Given the description of an element on the screen output the (x, y) to click on. 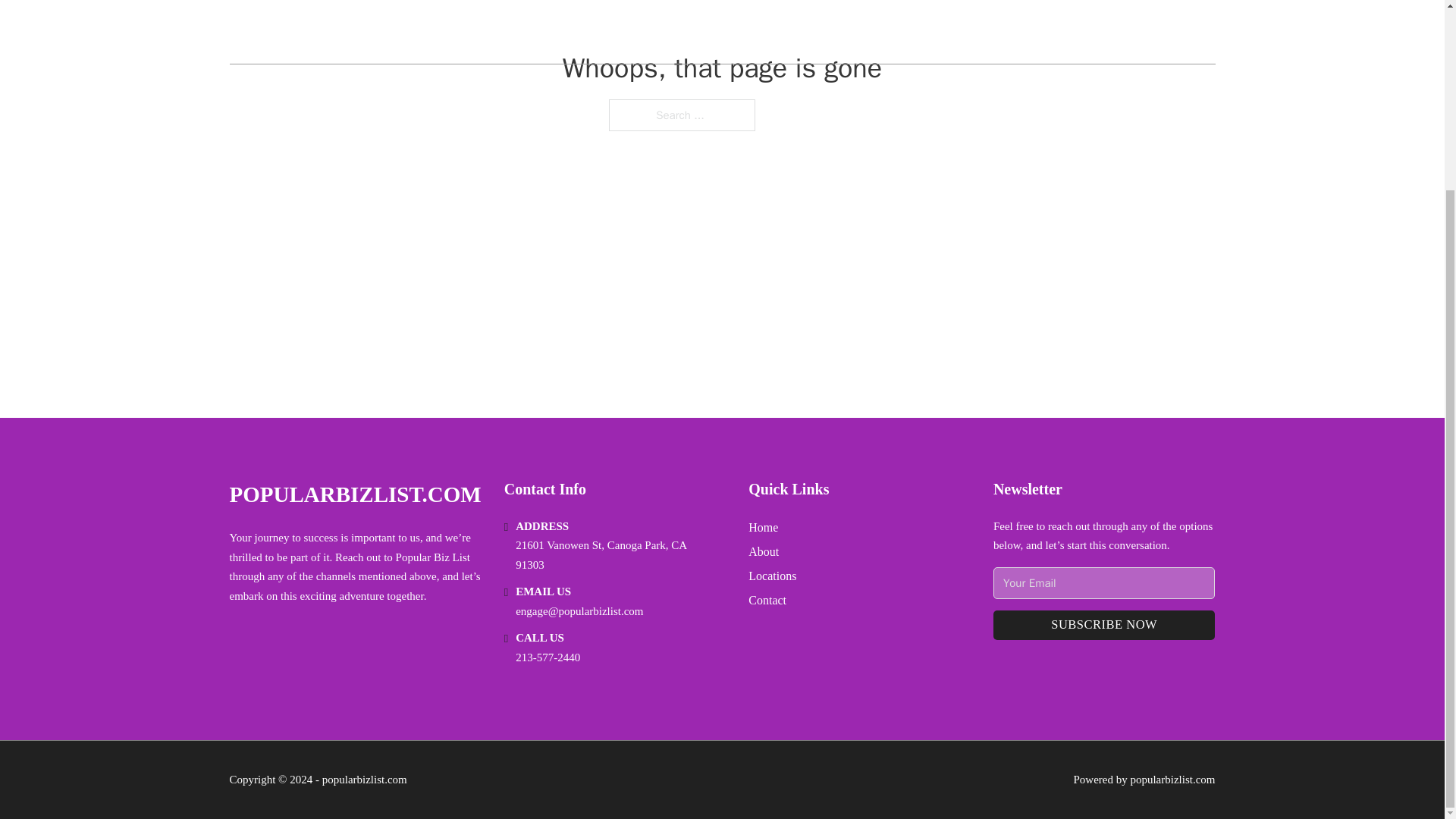
Contact (767, 599)
SUBSCRIBE NOW (1103, 624)
POPULARBIZLIST.COM (354, 494)
Home (762, 526)
Locations (772, 575)
213-577-2440 (547, 657)
About (763, 551)
